Given the description of an element on the screen output the (x, y) to click on. 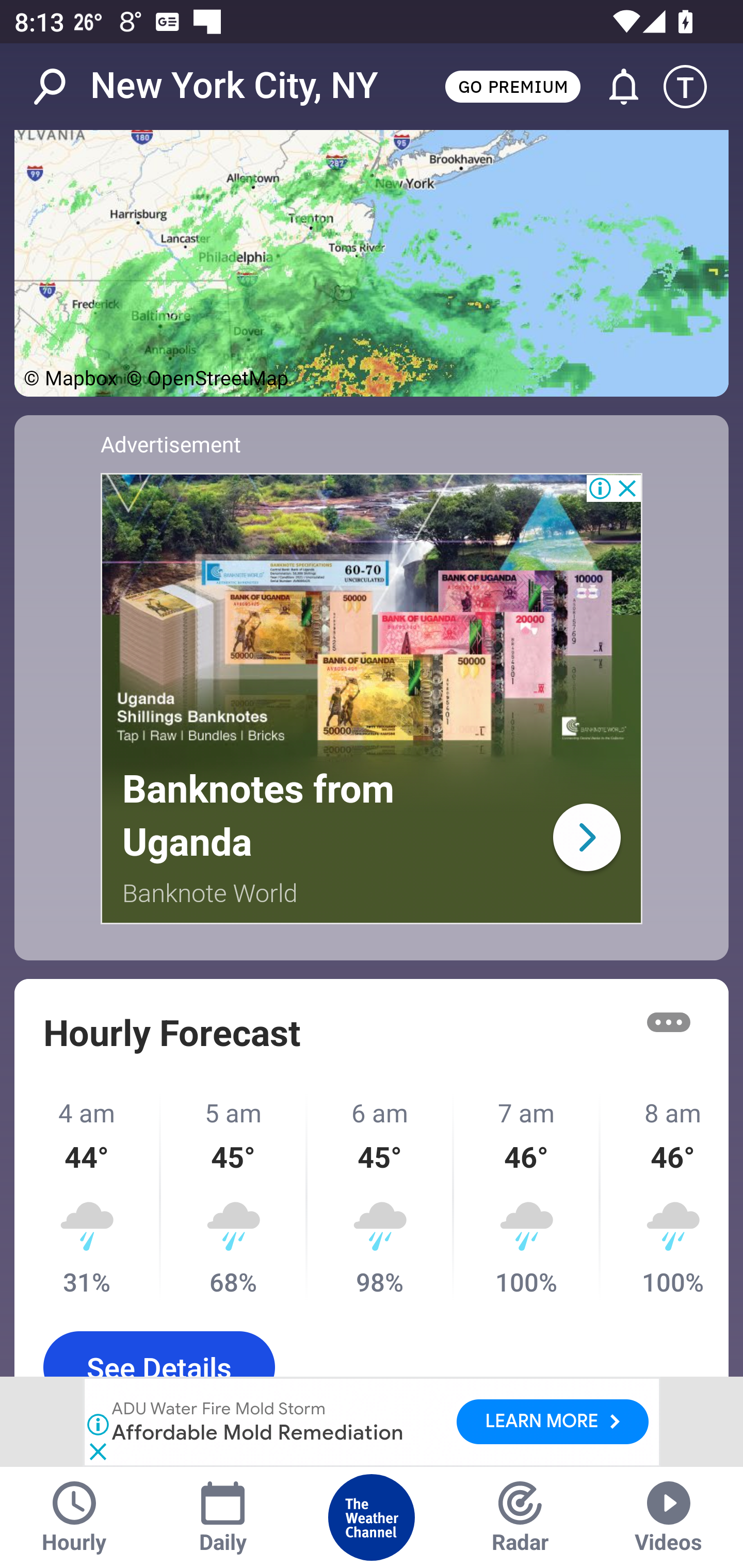
Search (59, 86)
Go to Alerts and Notifications (614, 86)
Setting icon T (694, 86)
New York City, NY (234, 85)
GO PREMIUM (512, 85)
See Map Details (371, 263)
Uganda-Currency (371, 618)
Banknotes from Uganda Banknotes from Uganda (258, 816)
Uganda-Currency (586, 836)
Banknote World (210, 893)
More options (668, 1022)
4 am 44° 31% (87, 1197)
5 am 45° 68% (234, 1197)
6 am 45° 98% (380, 1197)
7 am 46° 100% (526, 1197)
8 am 46° 100% (664, 1197)
ADU Water Fire Mold Storm (218, 1410)
LEARN MORE (551, 1421)
Affordable Mold Remediation (258, 1432)
Hourly Tab Hourly (74, 1517)
Daily Tab Daily (222, 1517)
Radar Tab Radar (519, 1517)
Videos Tab Videos (668, 1517)
